Given the description of an element on the screen output the (x, y) to click on. 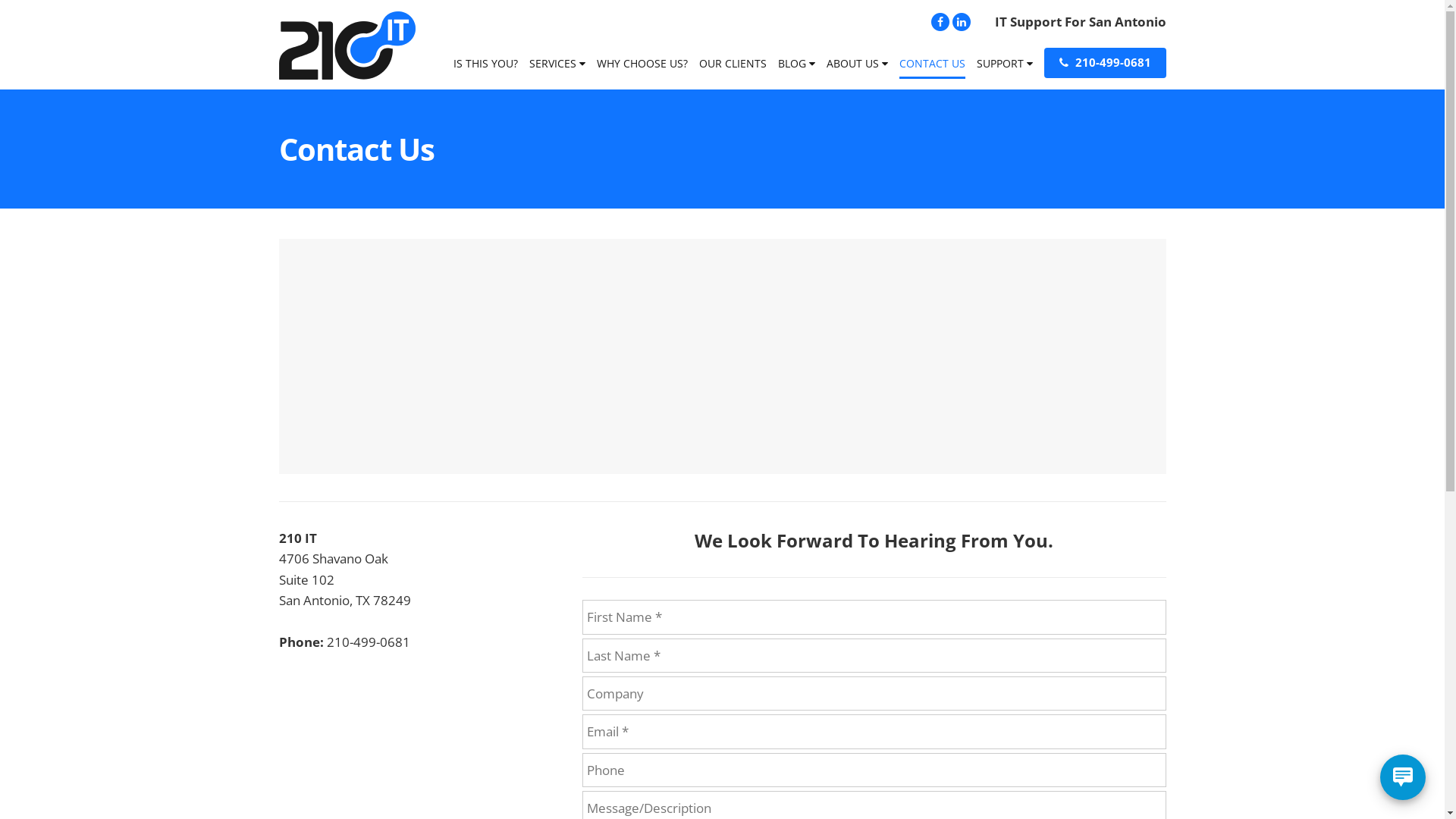
WHY CHOOSE US? Element type: text (641, 68)
SERVICES Element type: text (557, 68)
ABOUT US Element type: text (857, 68)
IS THIS YOU? Element type: text (485, 68)
CONTACT US Element type: text (932, 68)
OUR CLIENTS Element type: text (732, 68)
LinkedIn Element type: text (961, 21)
Facebook Element type: text (939, 21)
SUPPORT Element type: text (1004, 68)
BLOG Element type: text (796, 68)
210-499-0681 Element type: text (1104, 62)
